Given the description of an element on the screen output the (x, y) to click on. 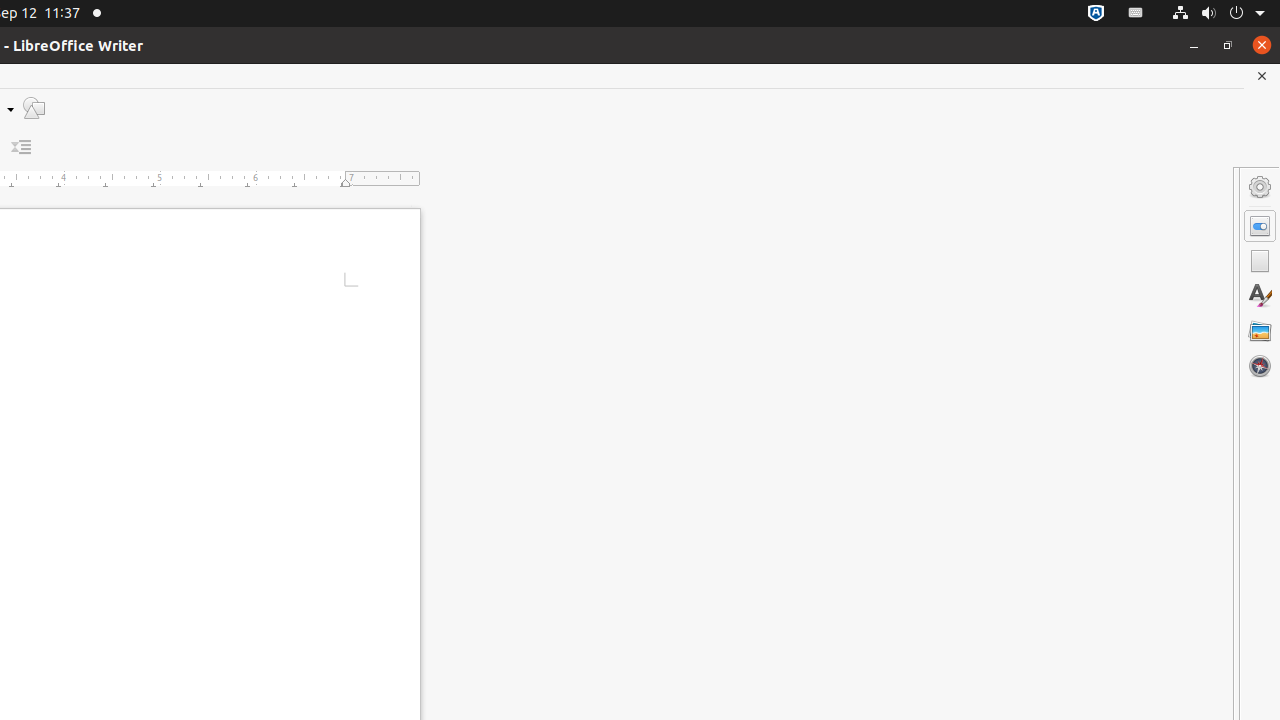
Properties Element type: radio-button (1260, 226)
Navigator Element type: radio-button (1260, 366)
Draw Functions Element type: push-button (33, 108)
Page Element type: radio-button (1260, 261)
System Element type: menu (1218, 13)
